Given the description of an element on the screen output the (x, y) to click on. 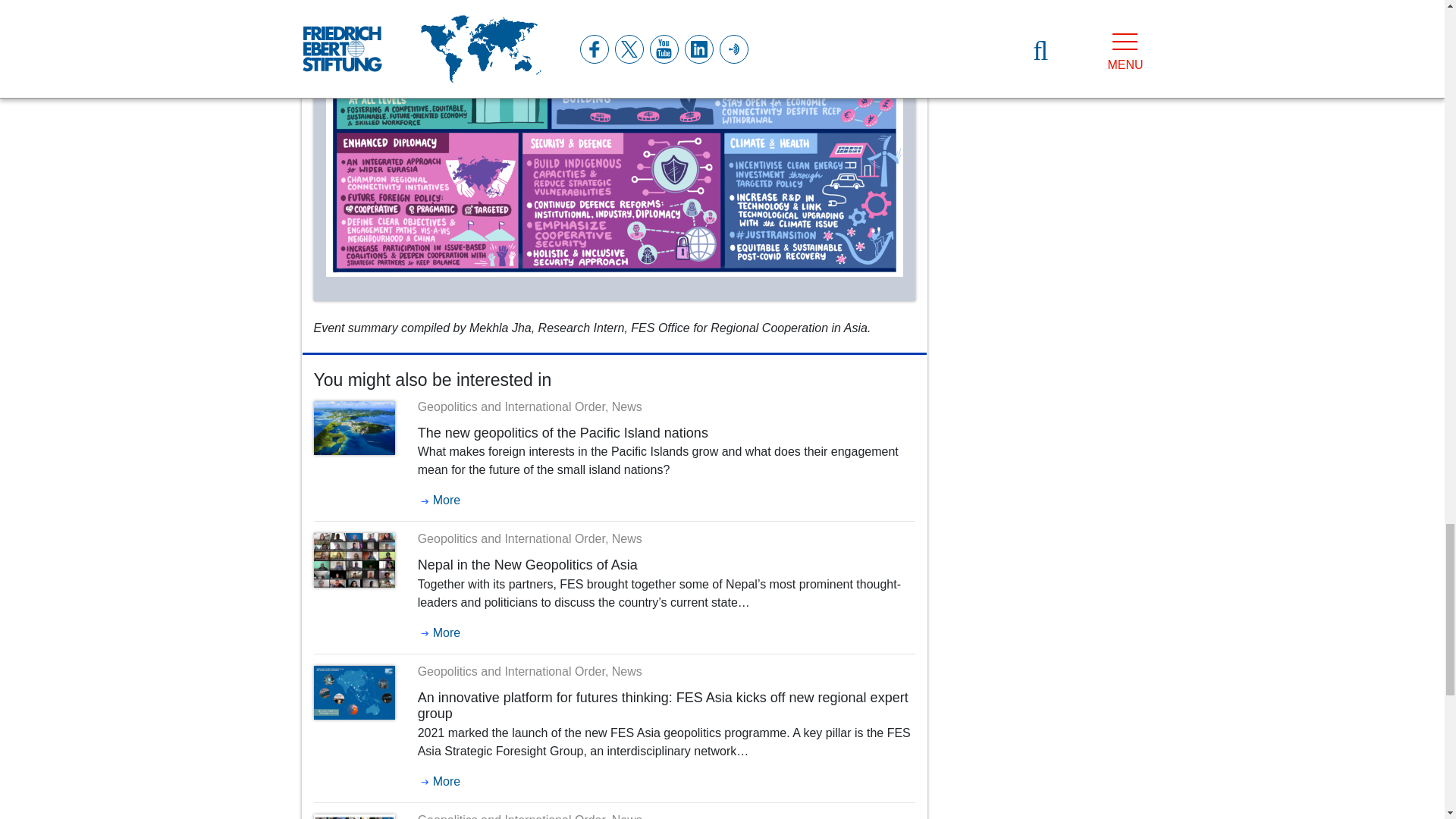
FES Asia India Geopolitics Lab Session 3 Final (614, 113)
Fes asia geopolitics bangladesh lab participants 211103 3.2 (354, 816)
IStock 626815916 (354, 428)
FES Nepal National Lab Day 2 3 2 (354, 560)
Fes asia inaugural lab 211210 1500 x 1000 px  (354, 692)
